Given the description of an element on the screen output the (x, y) to click on. 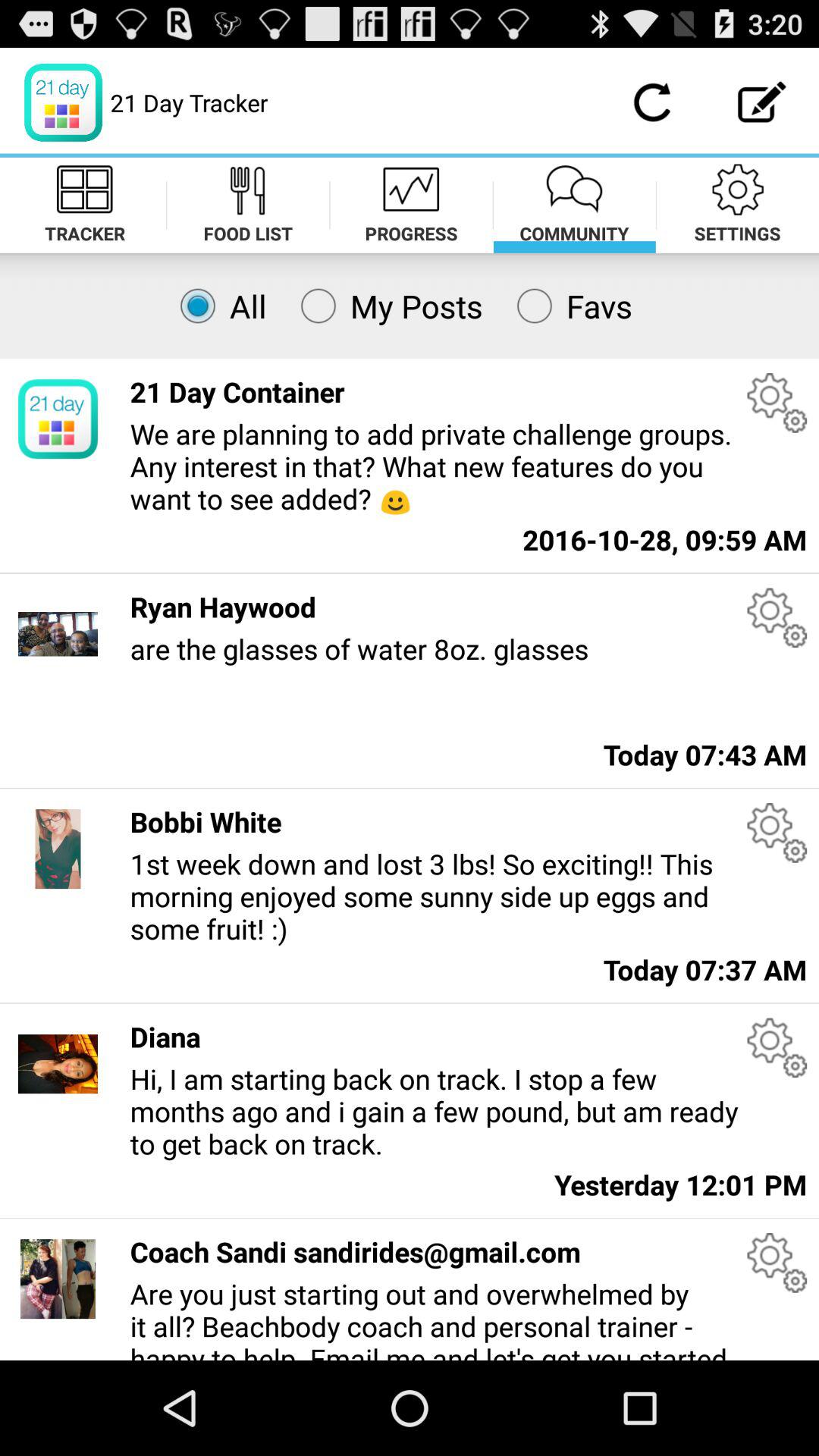
change settings (777, 617)
